Given the description of an element on the screen output the (x, y) to click on. 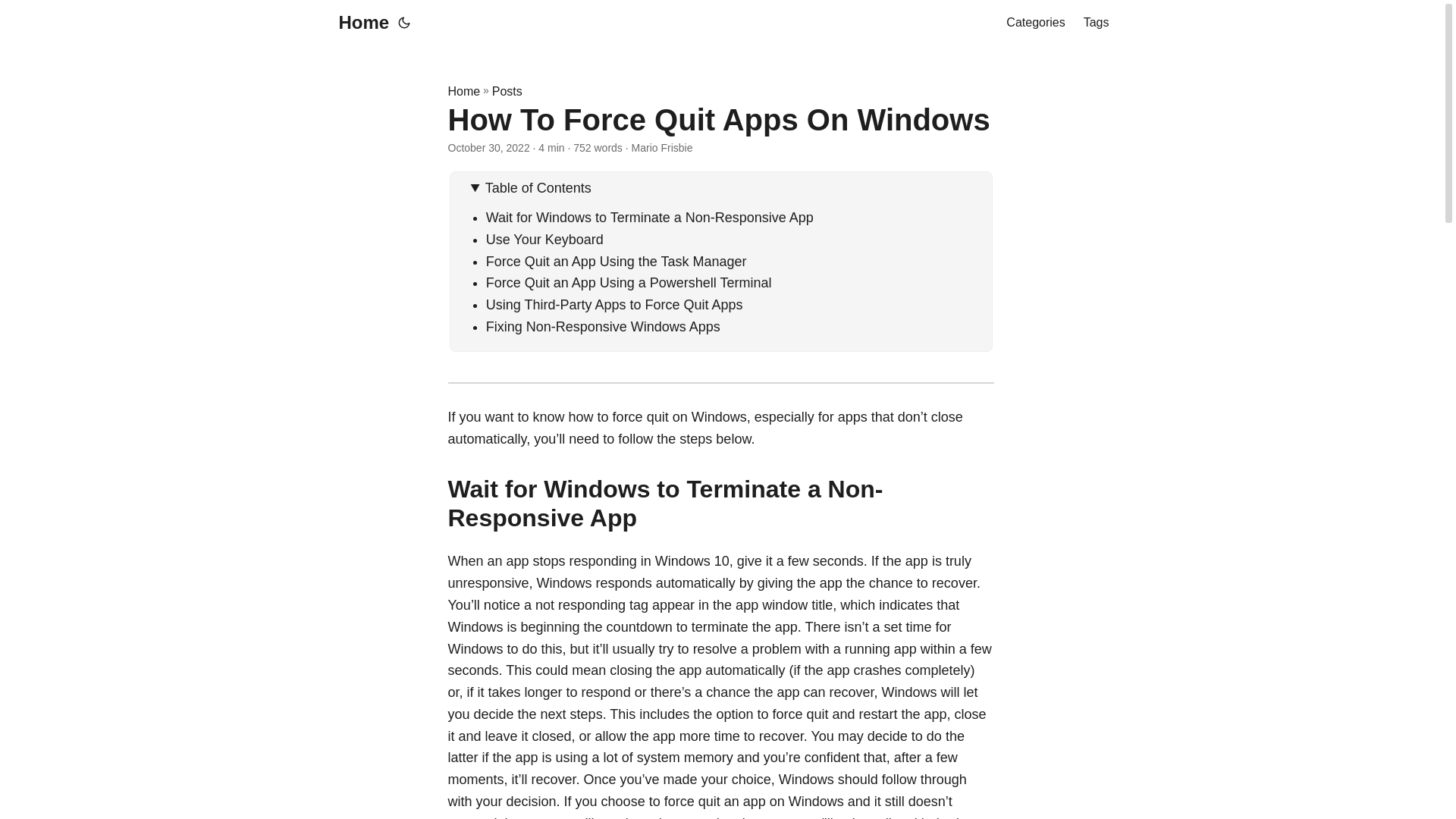
Use Your Keyboard (545, 239)
Home (463, 91)
Using Third-Party Apps to Force Quit Apps (614, 304)
Categories (1035, 22)
Force Quit an App Using a Powershell Terminal (628, 282)
Wait for Windows to Terminate a Non-Responsive App (649, 217)
Posts (507, 91)
Categories (1035, 22)
Home (359, 22)
Force Quit an App Using the Task Manager (616, 261)
Fixing Non-Responsive Windows Apps (603, 326)
